Given the description of an element on the screen output the (x, y) to click on. 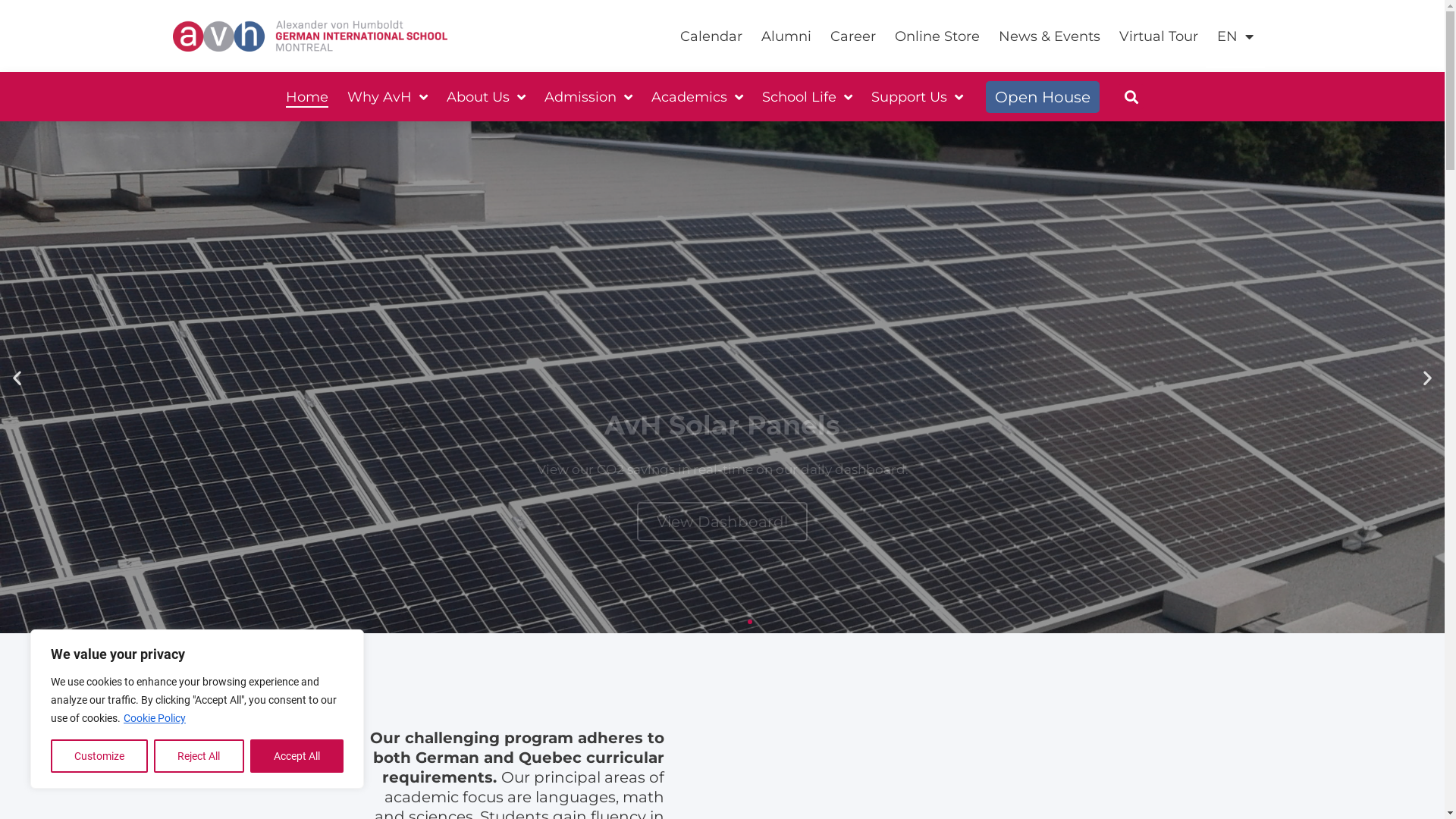
Accept All Element type: text (296, 755)
School Life Element type: text (807, 96)
Customize Element type: text (98, 755)
Career Element type: text (852, 36)
Online Store Element type: text (936, 36)
Cookie Policy Element type: text (154, 717)
Why AvH Element type: text (387, 96)
News & Events Element type: text (1048, 36)
About Us Element type: text (485, 96)
Alumni Element type: text (786, 36)
Support Us Element type: text (917, 96)
Home Element type: text (306, 96)
Calendar Element type: text (710, 36)
Virtual Tour Element type: text (1158, 36)
Reject All Element type: text (198, 755)
View Our Virtual Tour! Element type: text (721, 427)
Academics Element type: text (697, 96)
Open House Element type: text (1042, 96)
EN Element type: text (1234, 35)
Admission Element type: text (588, 96)
